Given the description of an element on the screen output the (x, y) to click on. 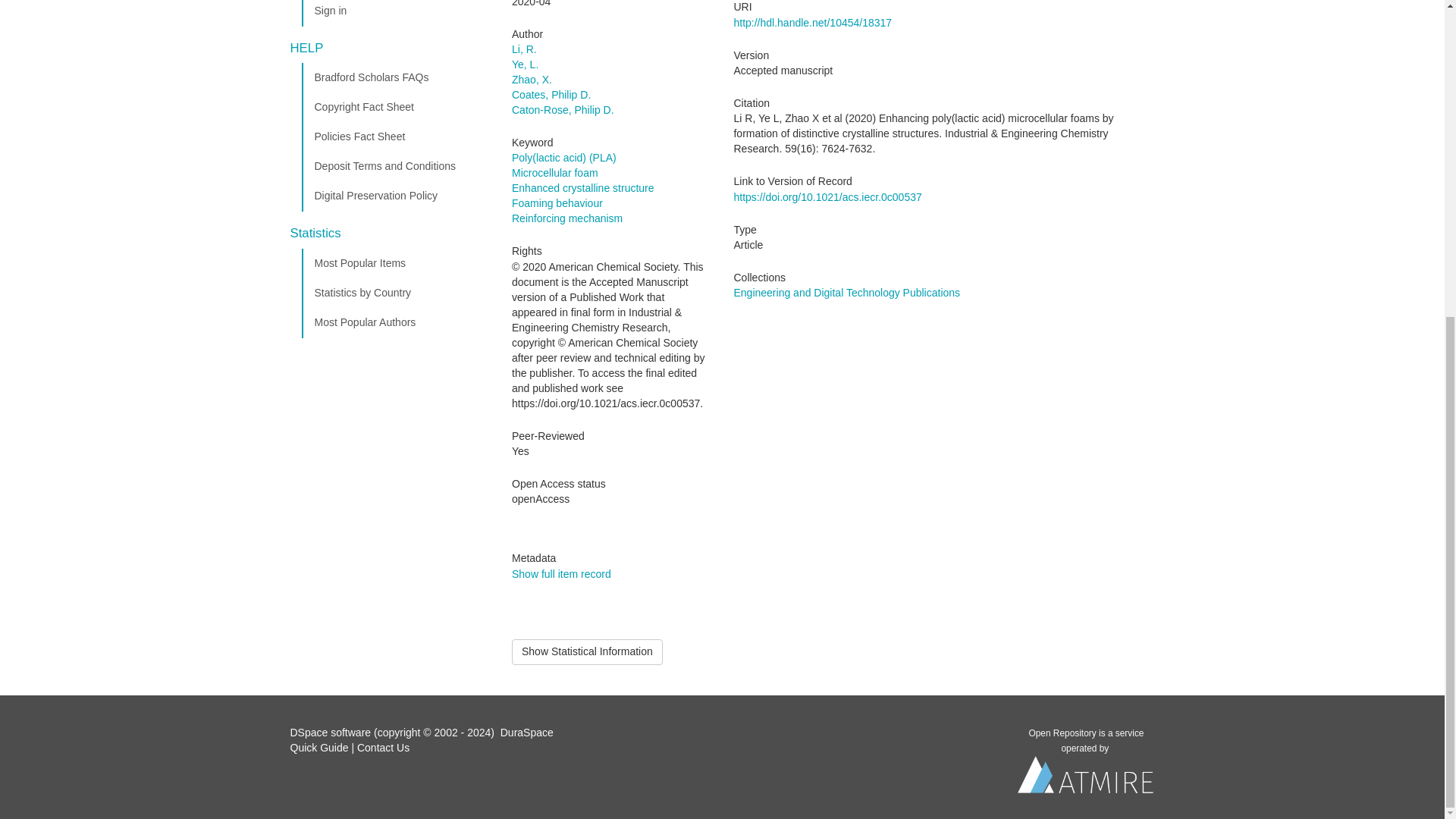
Deposit Terms and Conditions (395, 166)
Sign in (395, 13)
Digital Preservation Policy (395, 195)
Atmire NV (1085, 778)
Copyright Fact Sheet (395, 107)
Statistics by Country (395, 293)
Policies Fact Sheet (395, 137)
Most Popular Authors (395, 322)
Most Popular Items (395, 263)
Bradford Scholars FAQs (395, 78)
